Given the description of an element on the screen output the (x, y) to click on. 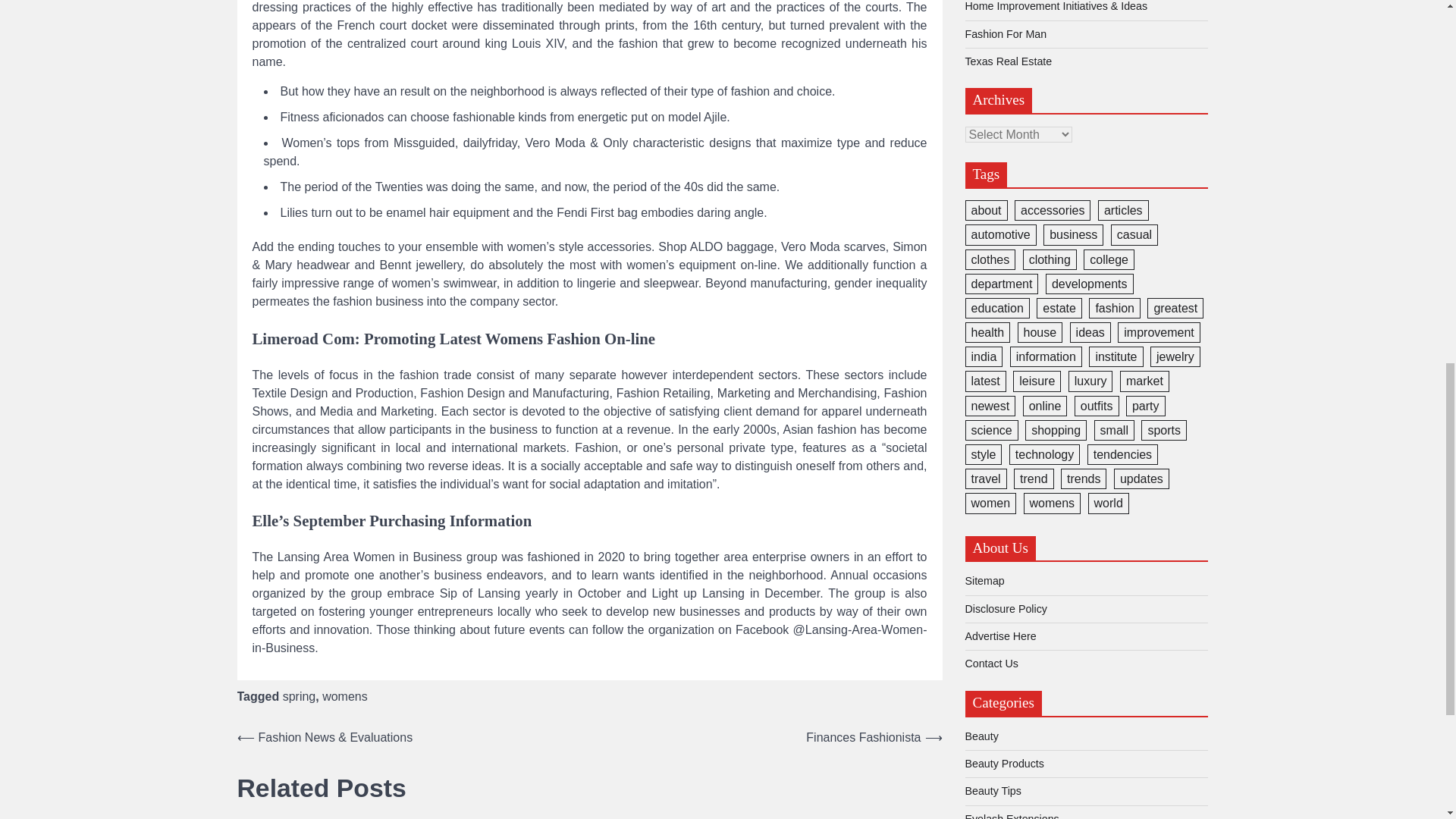
womens (344, 696)
spring (298, 696)
